Given the description of an element on the screen output the (x, y) to click on. 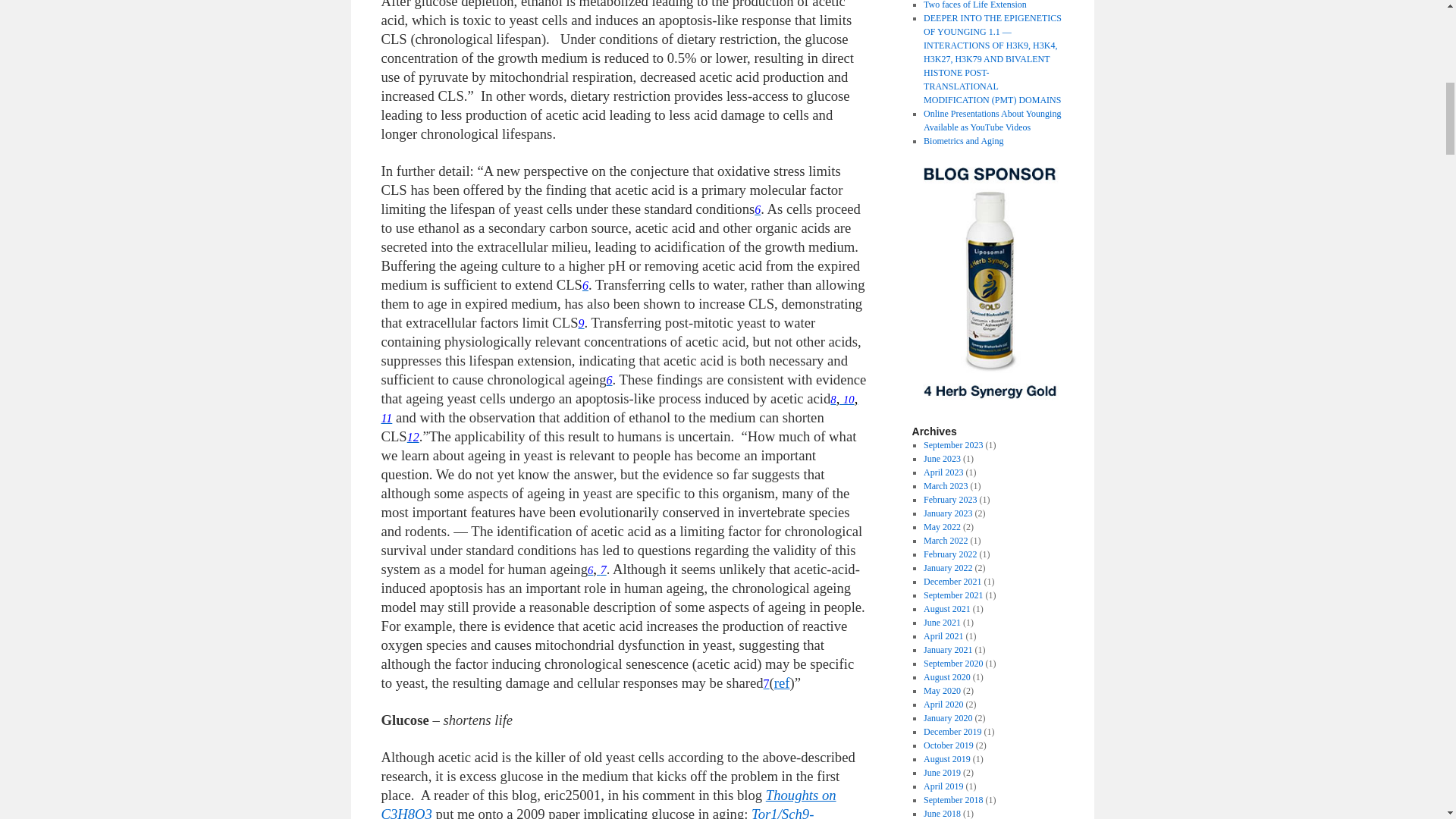
ref (782, 682)
Thoughts on C3H8O3 (607, 803)
10, (850, 398)
